Given the description of an element on the screen output the (x, y) to click on. 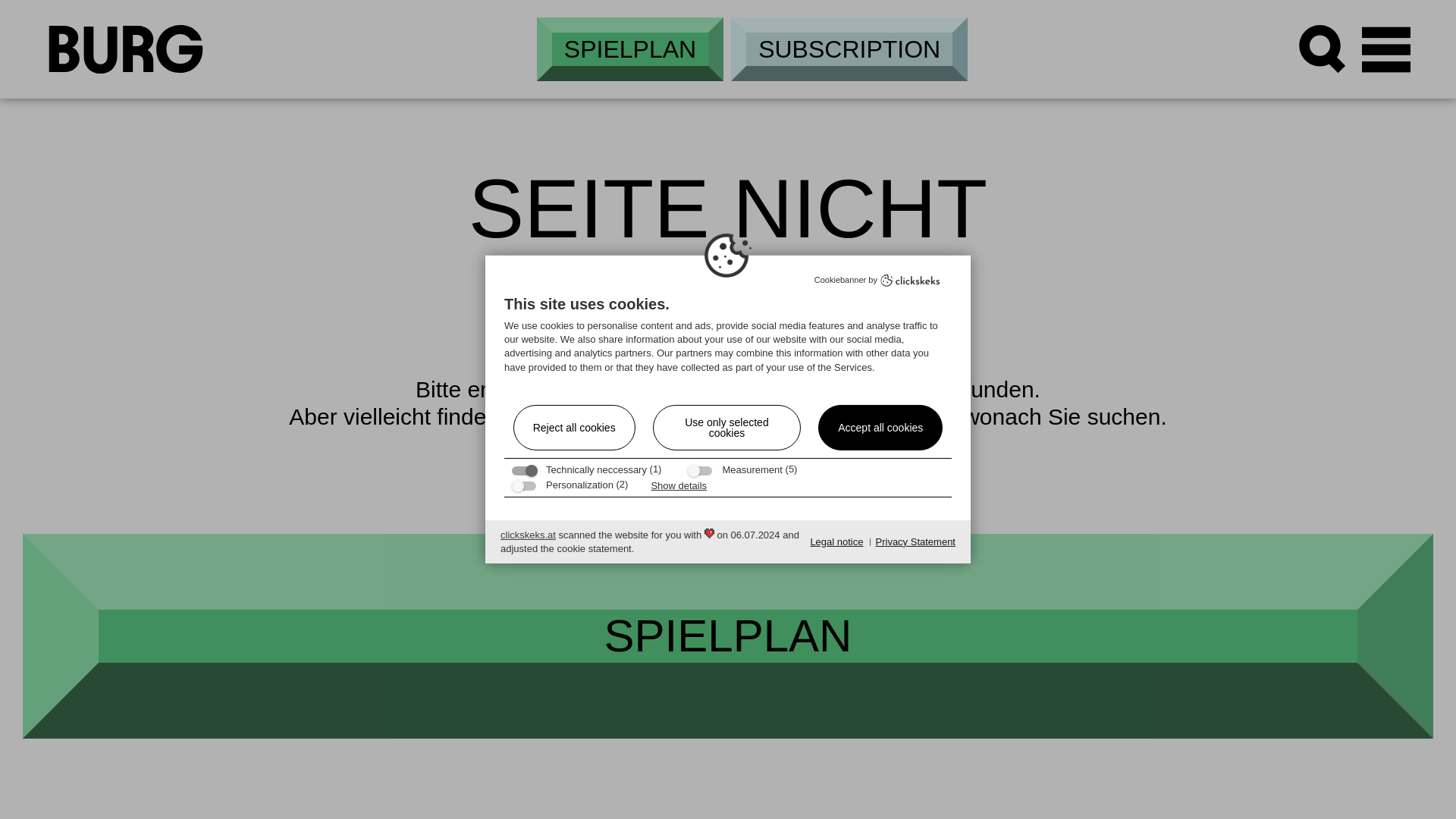
Subscription (849, 49)
SPIELPLAN (630, 49)
Spielplan (630, 49)
SUBSCRIPTION (849, 49)
Clickskeks Logo (909, 280)
Menu (1385, 49)
Suche (1322, 49)
BURG (125, 49)
